Given the description of an element on the screen output the (x, y) to click on. 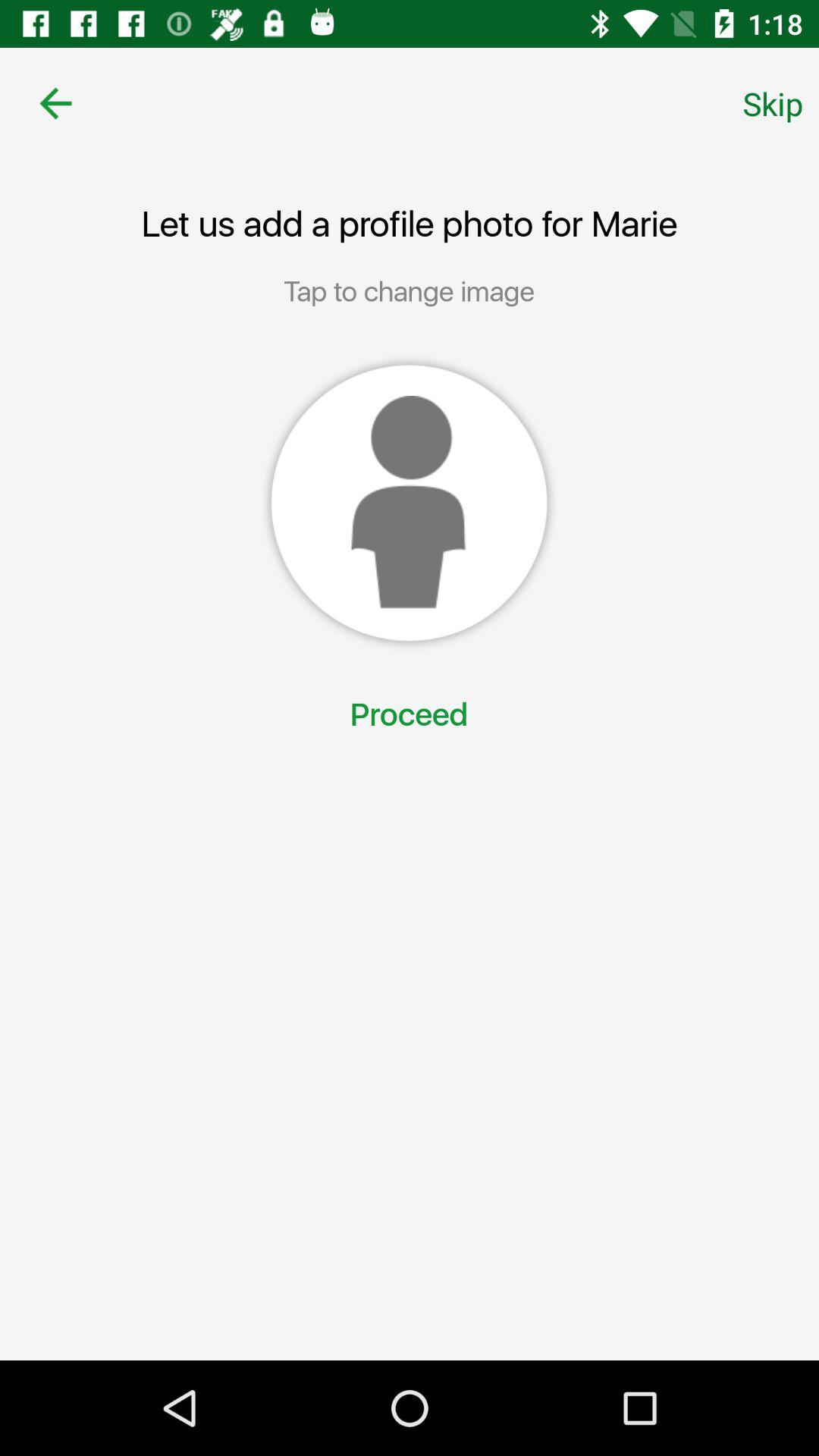
turn off the item next to the skip item (55, 103)
